Given the description of an element on the screen output the (x, y) to click on. 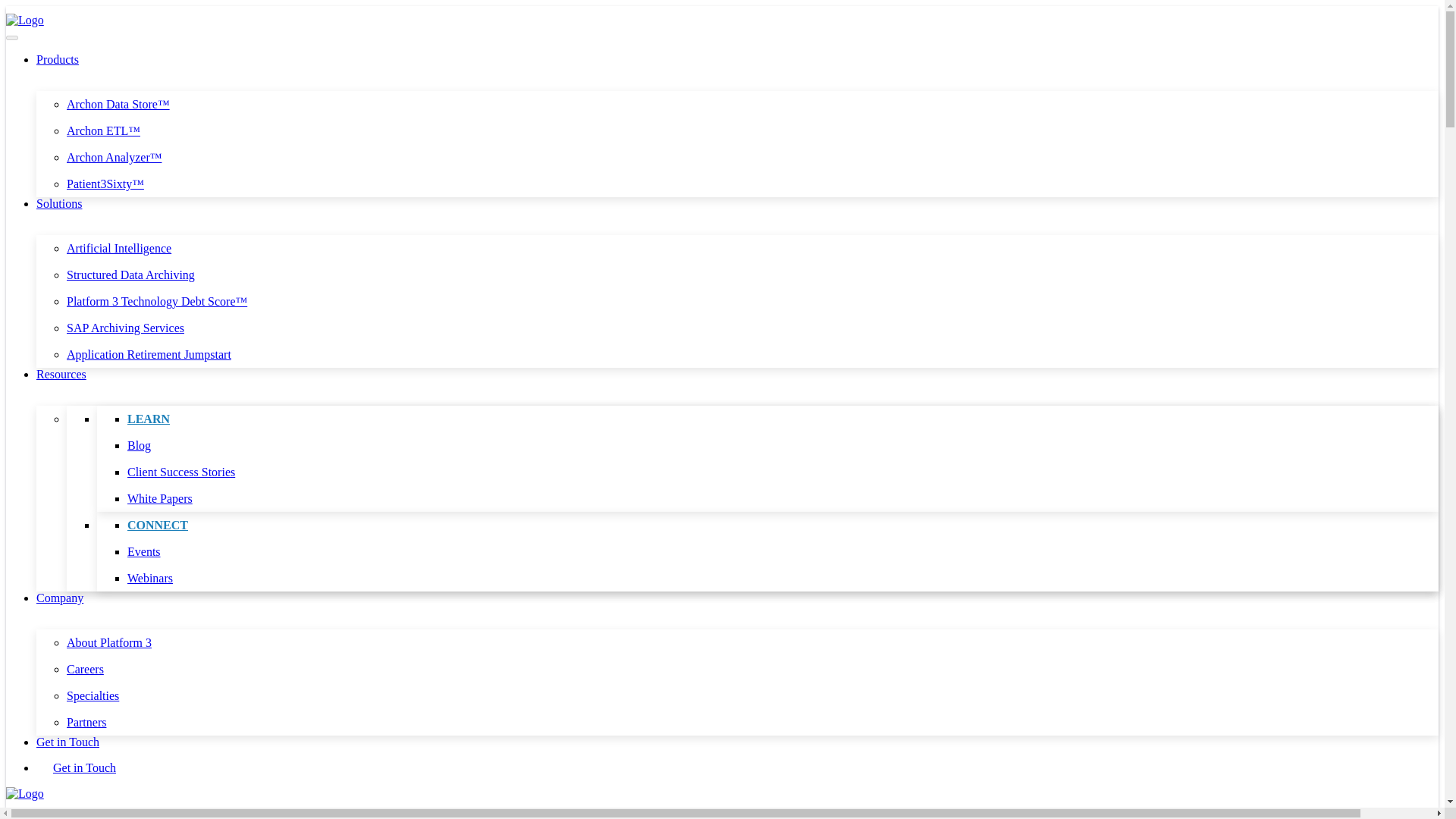
Application Retirement Jumpstart (148, 354)
About Platform 3 (108, 642)
Artificial Intelligence (118, 247)
Products (57, 59)
Webinars (150, 577)
LEARN (149, 418)
Resources (60, 373)
Partners (86, 721)
White Papers (160, 498)
Get in Touch (67, 741)
